Given the description of an element on the screen output the (x, y) to click on. 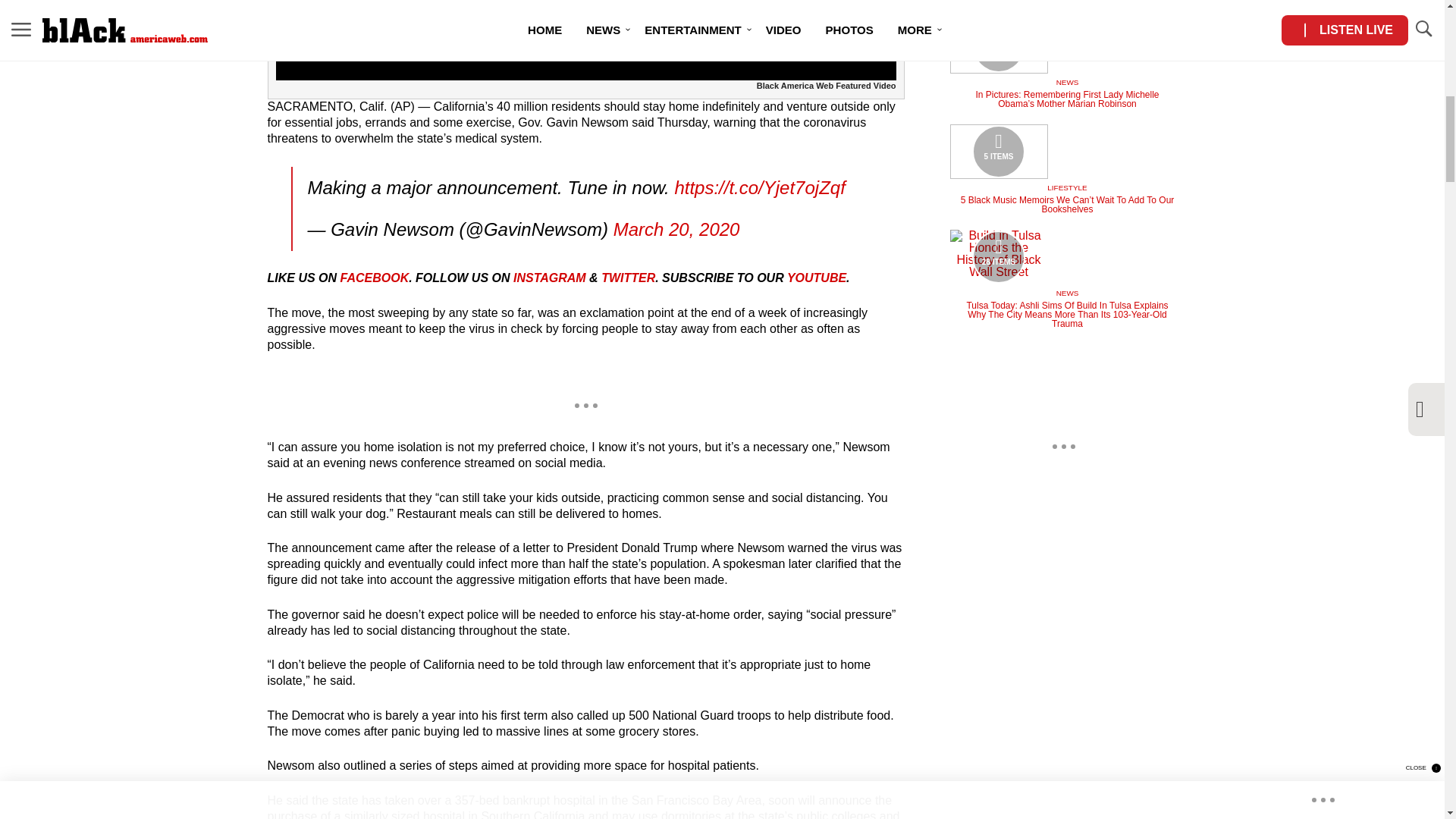
Media Playlist (998, 151)
Media Playlist (998, 256)
Media Playlist (998, 45)
